Given the description of an element on the screen output the (x, y) to click on. 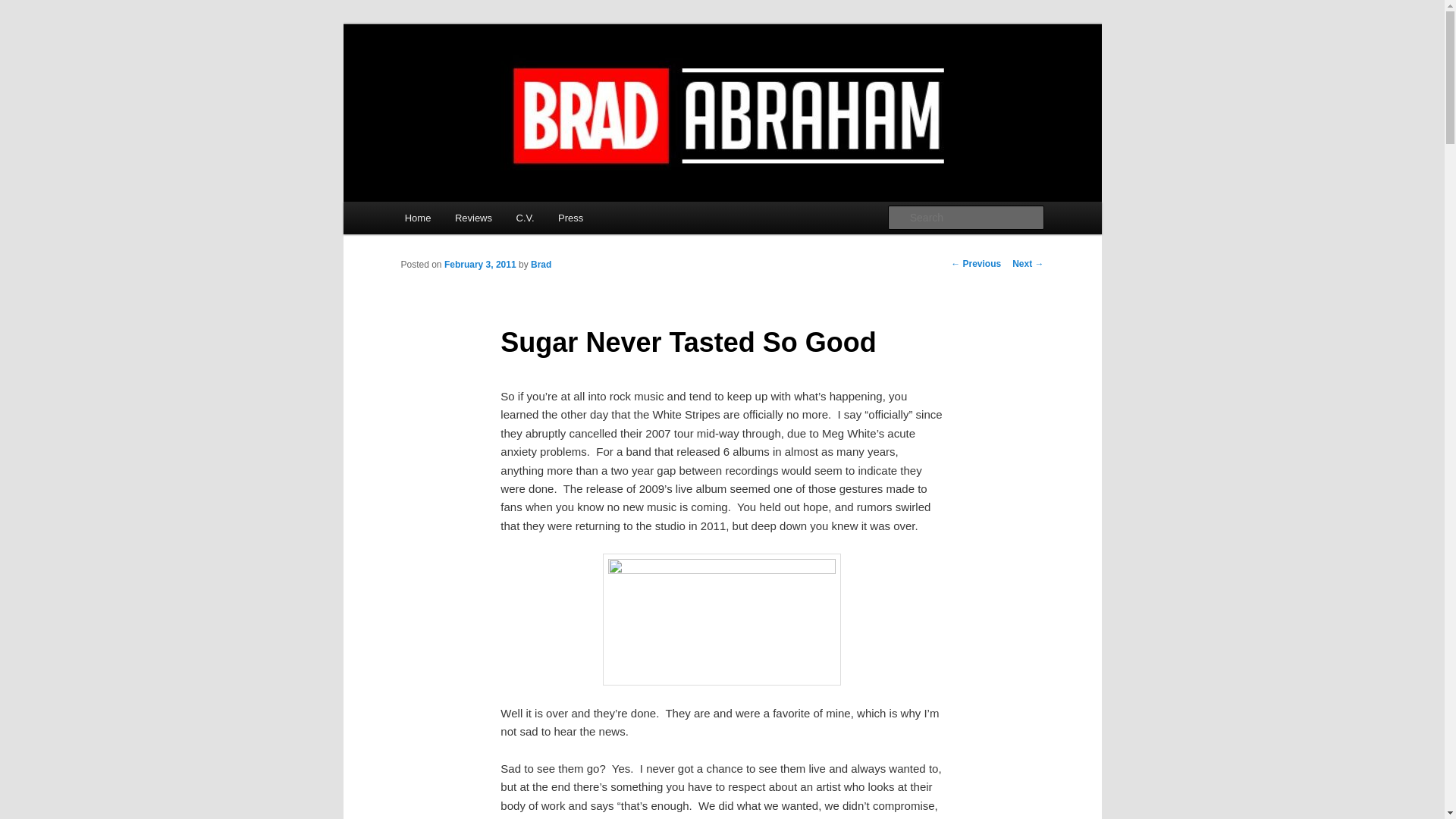
Reviews (472, 217)
View all posts by Brad (541, 264)
9:57 am (480, 264)
Press (570, 217)
BradAbraham.com (502, 78)
February 3, 2011 (480, 264)
Search (24, 8)
Brad (541, 264)
C.V. (525, 217)
Home (417, 217)
